Given the description of an element on the screen output the (x, y) to click on. 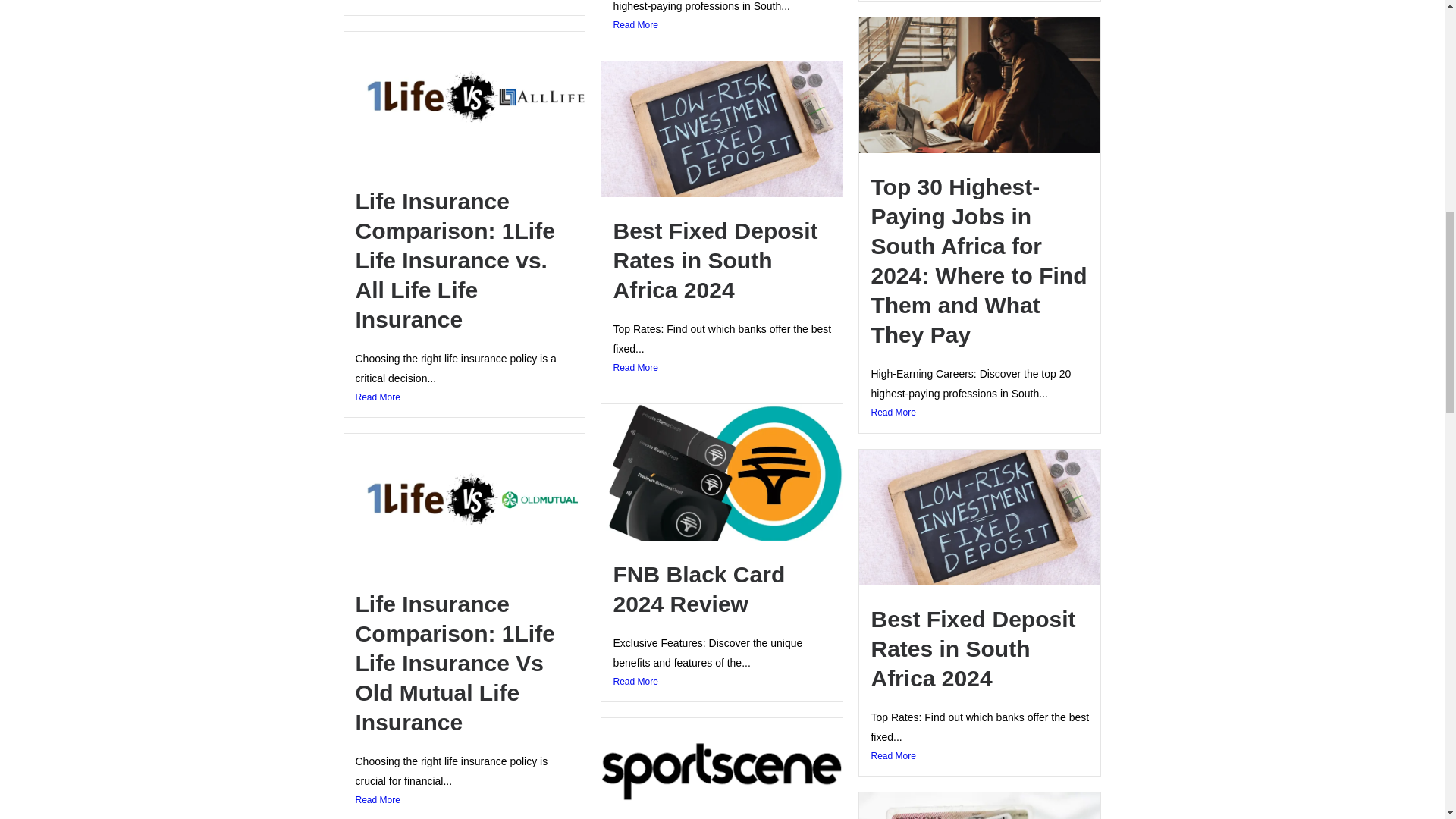
Best Fixed Deposit Rates in South Africa 2024 (714, 260)
Best Fixed Deposit Rates in South Africa 2024 (972, 648)
FNB Black Card 2024 Review (698, 588)
Read More (464, 2)
